Given the description of an element on the screen output the (x, y) to click on. 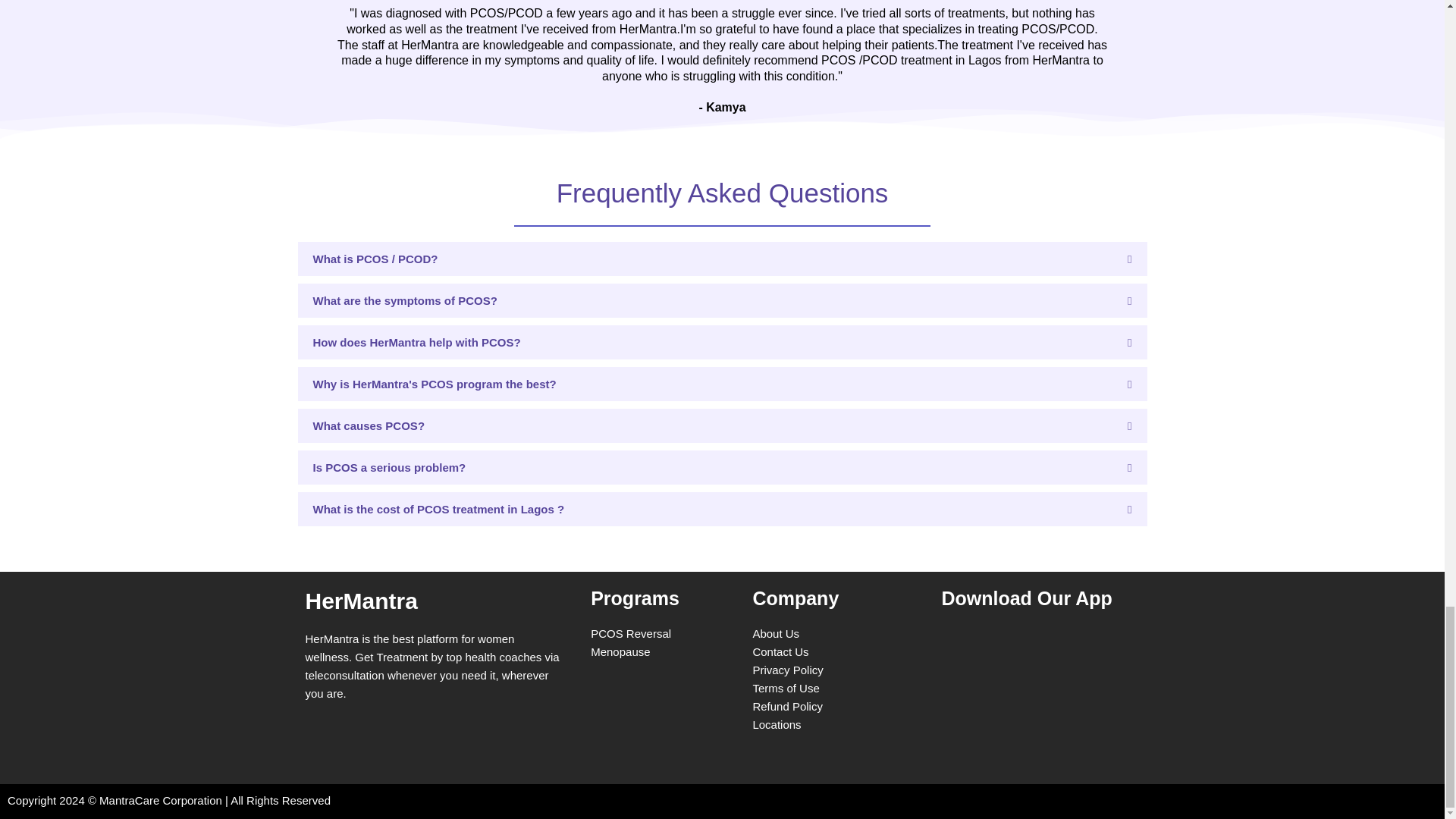
Contact Us (780, 651)
PCOS Reversal (631, 633)
Privacy Policy (787, 669)
What is the cost of PCOS treatment in Lagos ? (438, 508)
Why is HerMantra's PCOS program the best? (434, 383)
What causes PCOS? (369, 425)
Terms of Use (785, 687)
Refund Policy (787, 706)
What are the symptoms of PCOS? (404, 300)
Menopause (620, 651)
